Given the description of an element on the screen output the (x, y) to click on. 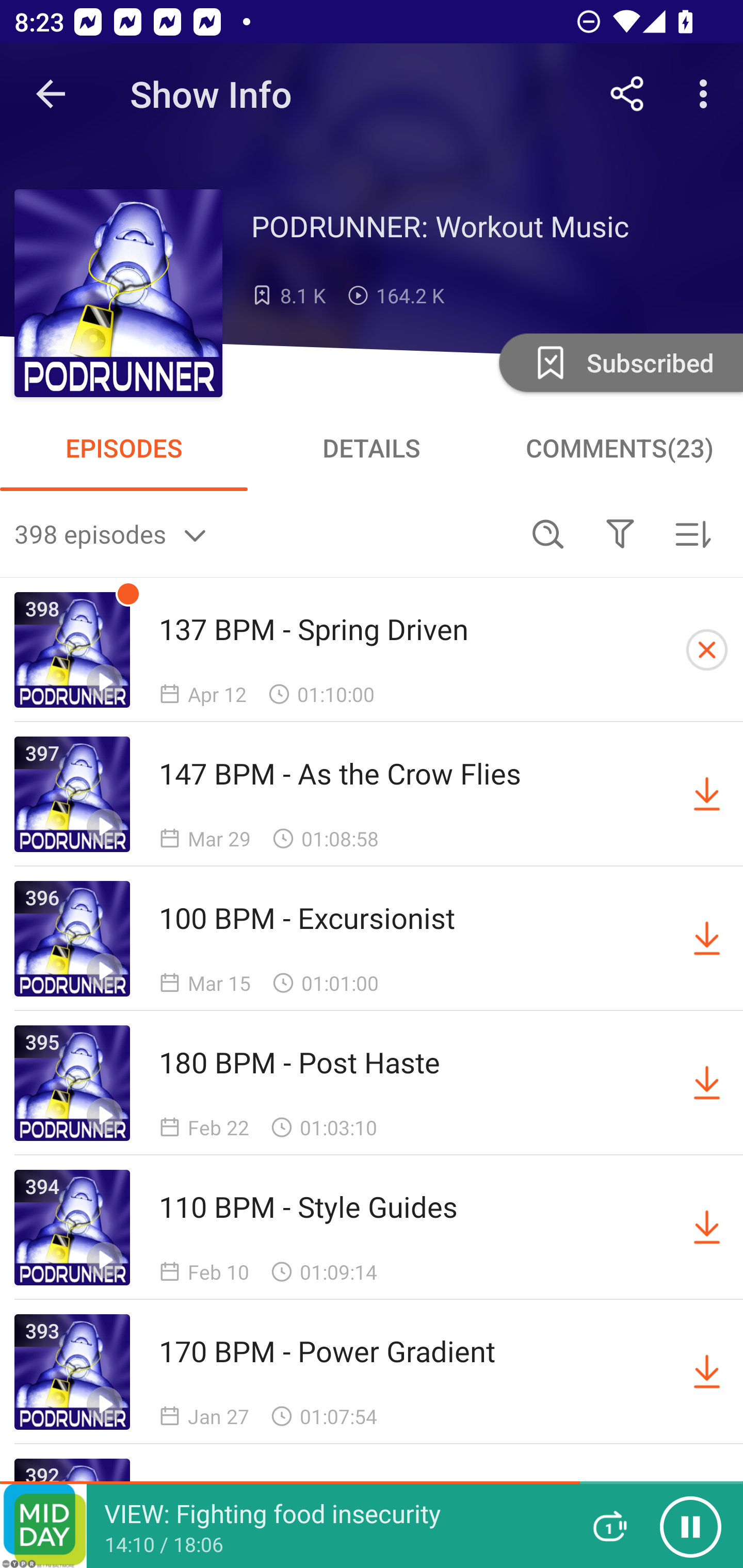
Navigate up (50, 93)
Share (626, 93)
More options (706, 93)
Unsubscribe Subscribed (619, 361)
EPISODES (123, 447)
DETAILS (371, 447)
COMMENTS(23) (619, 447)
398 episodes  (262, 533)
 Search (547, 533)
 (619, 533)
 Sorted by newest first (692, 533)
Cancel Downloading (706, 649)
Download (706, 793)
Download (706, 939)
Download (706, 1083)
Download (706, 1227)
Download (706, 1371)
Pause (690, 1526)
